Given the description of an element on the screen output the (x, y) to click on. 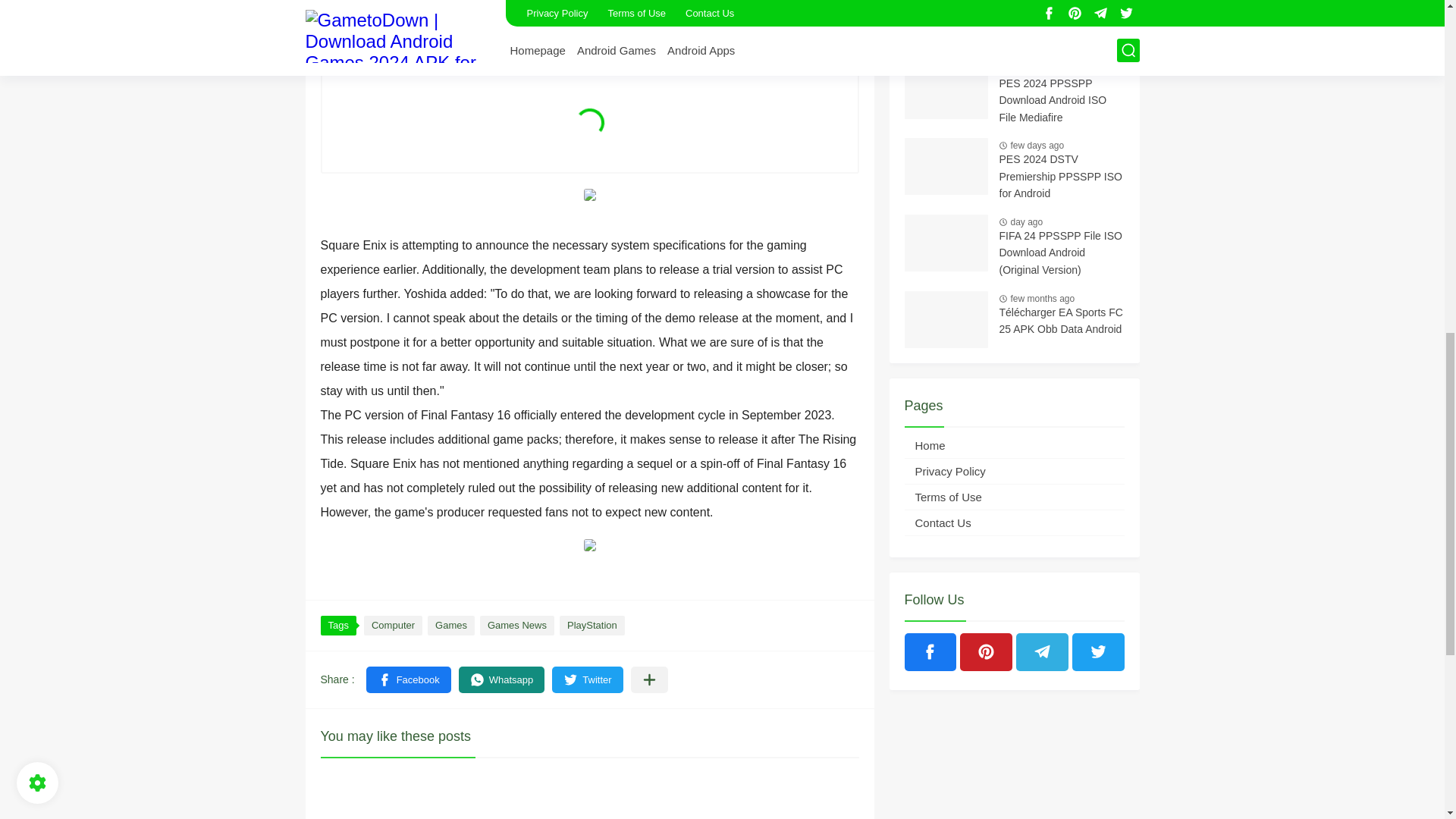
Computer (393, 625)
PlayStation (591, 625)
Computer (393, 625)
Games News (517, 625)
Games (451, 625)
PlayStation (591, 625)
Games (451, 625)
Games News (517, 625)
